Given the description of an element on the screen output the (x, y) to click on. 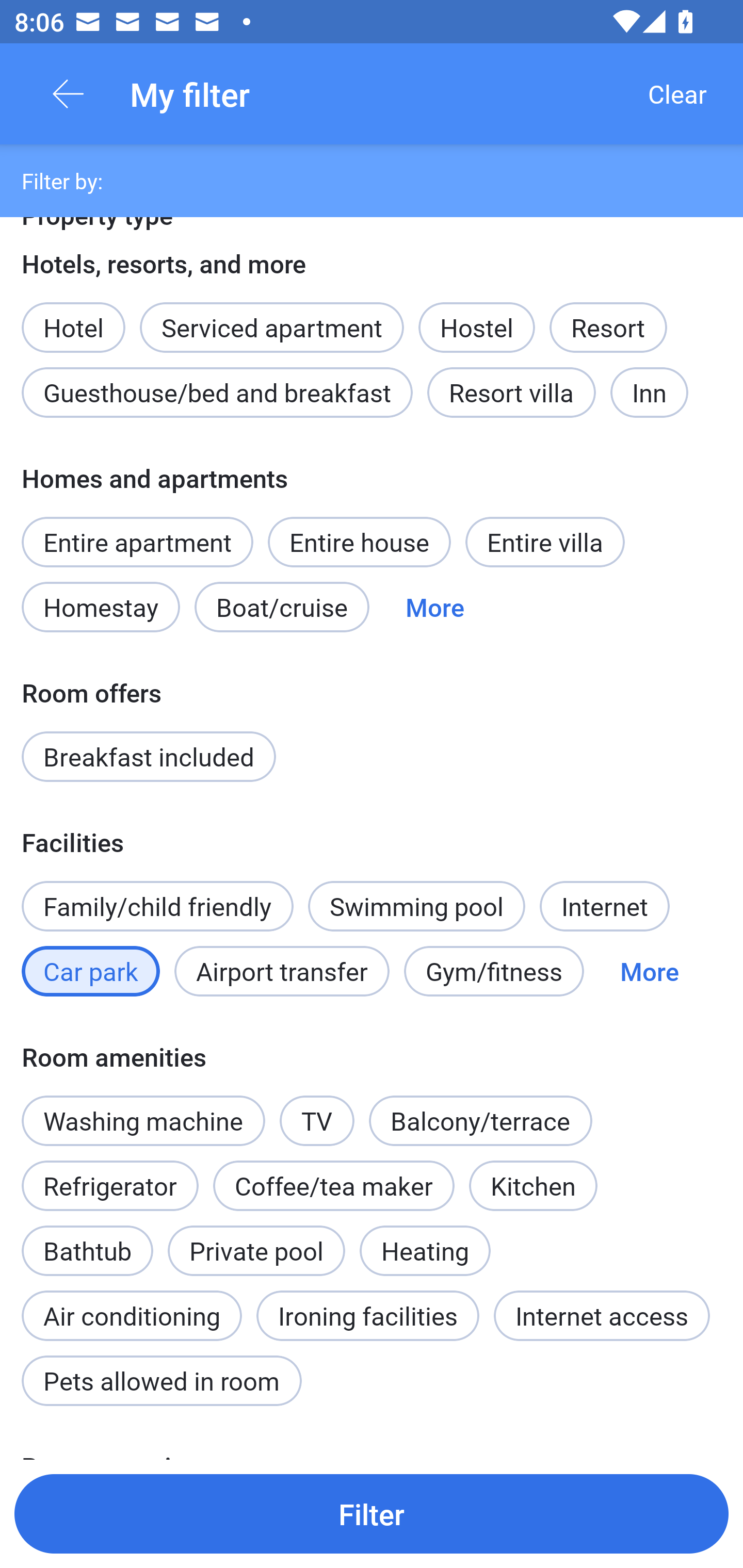
Clear (676, 93)
Hotel (73, 316)
Serviced apartment (271, 316)
Hostel (476, 327)
Resort (608, 327)
Guesthouse/bed and breakfast (217, 392)
Resort villa (511, 392)
Inn (649, 392)
Entire apartment (137, 541)
Entire house (359, 541)
Entire villa (544, 541)
Homestay (100, 607)
Boat/cruise (281, 607)
More (434, 607)
Breakfast included (148, 756)
Family/child friendly (157, 906)
Swimming pool (416, 906)
Internet (604, 906)
Airport transfer (281, 971)
Gym/fitness (493, 971)
More (649, 971)
Washing machine (143, 1120)
TV (317, 1110)
Balcony/terrace (480, 1120)
Refrigerator (109, 1186)
Coffee/tea maker (333, 1186)
Kitchen (532, 1186)
Bathtub (87, 1240)
Private pool (256, 1250)
Heating (424, 1250)
Air conditioning (131, 1305)
Ironing facilities (367, 1316)
Internet access (602, 1316)
Pets allowed in room (161, 1380)
Filter (371, 1513)
